Given the description of an element on the screen output the (x, y) to click on. 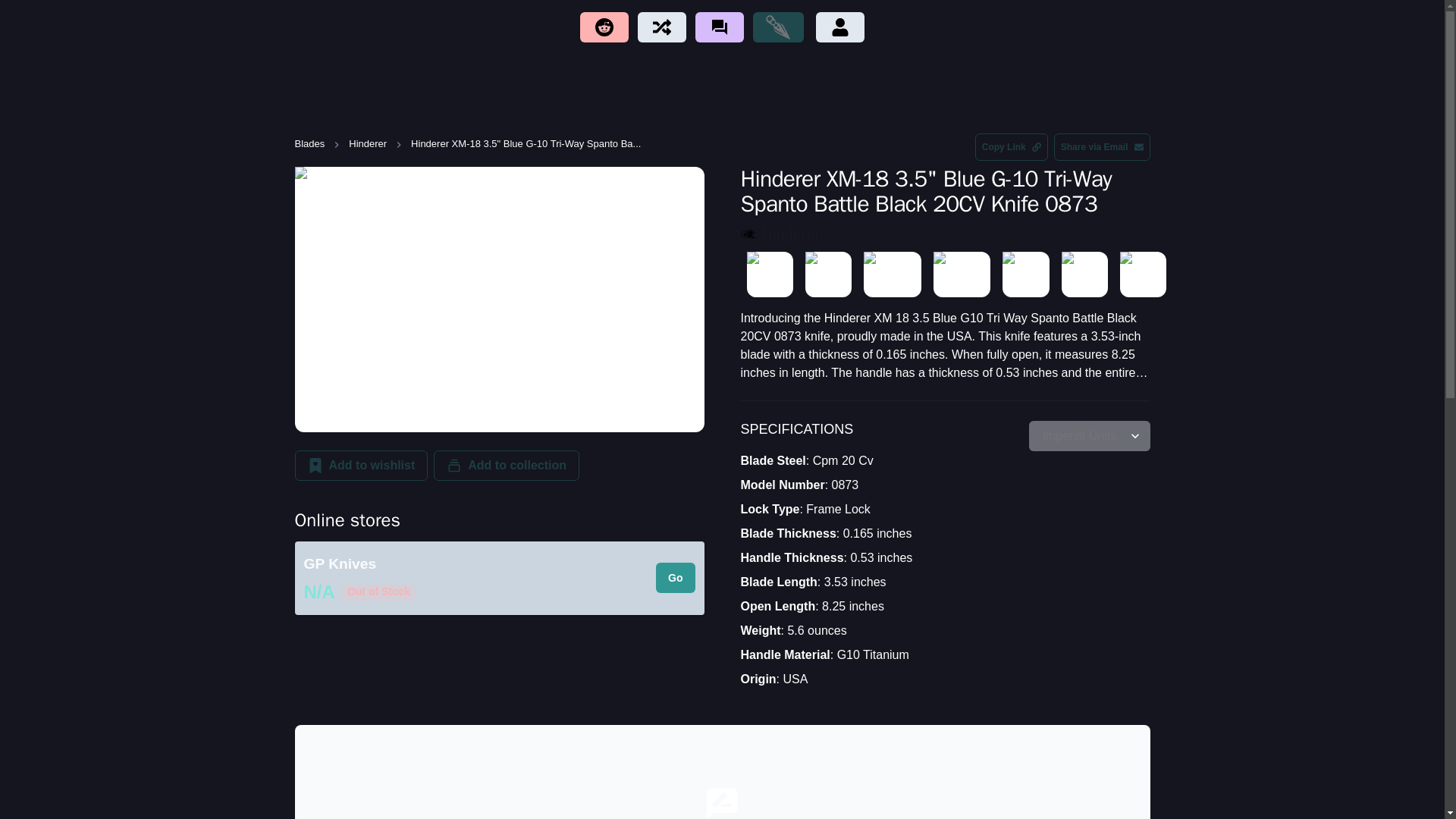
Add to wishlist (361, 465)
Hinderer (790, 233)
Blades (309, 143)
Add to collection (506, 465)
Hinderer XM-18 3.5" Blue G-10 Tri-Way Spanto Ba... (525, 143)
Share via Email (1102, 146)
Copy Link (1011, 146)
Hinderer (368, 143)
Go (675, 577)
